Given the description of an element on the screen output the (x, y) to click on. 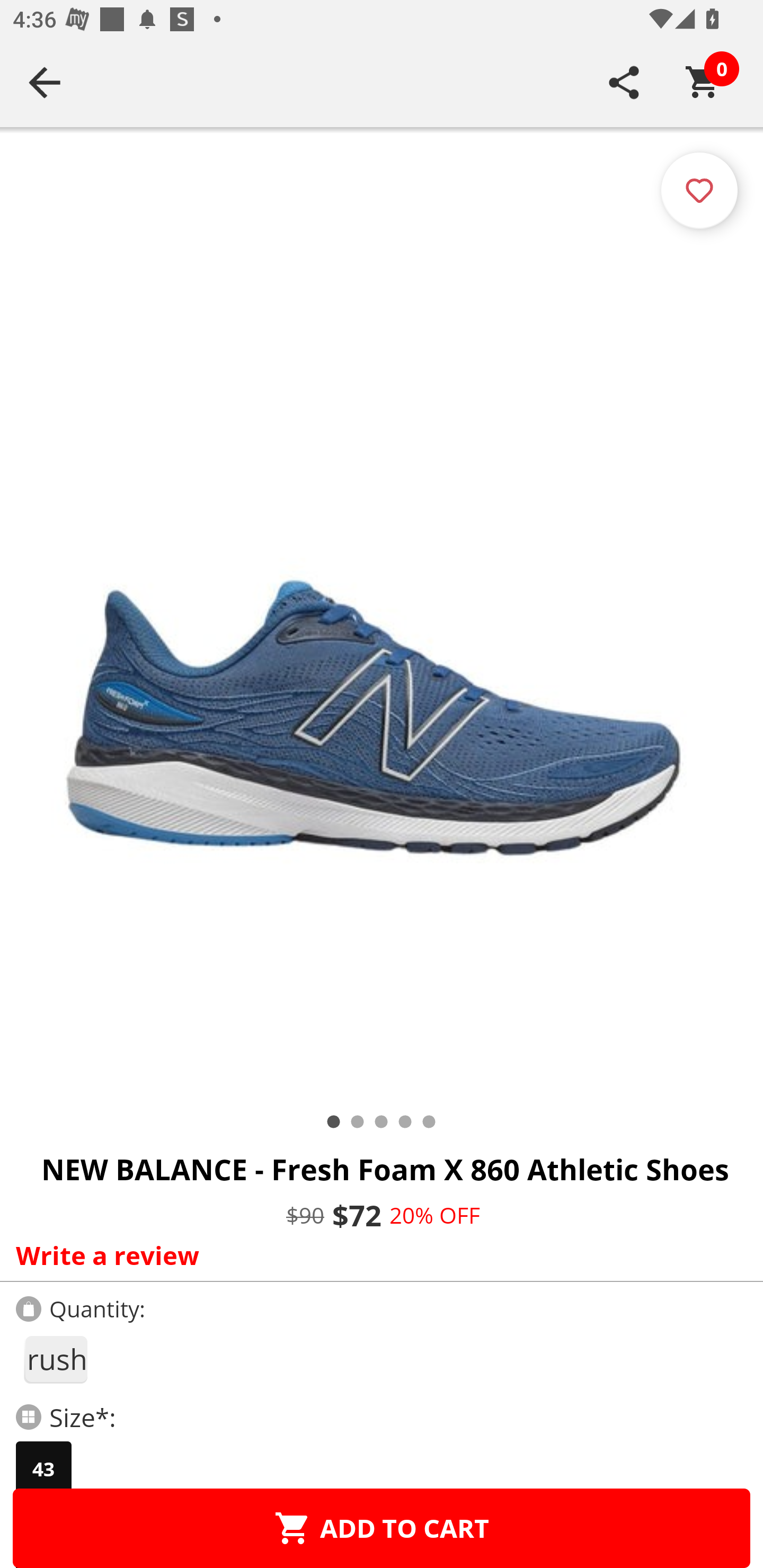
Navigate up (44, 82)
SHARE (623, 82)
Cart (703, 81)
Write a review (377, 1255)
1toothbrush (55, 1358)
43 (43, 1468)
ADD TO CART (381, 1528)
